Given the description of an element on the screen output the (x, y) to click on. 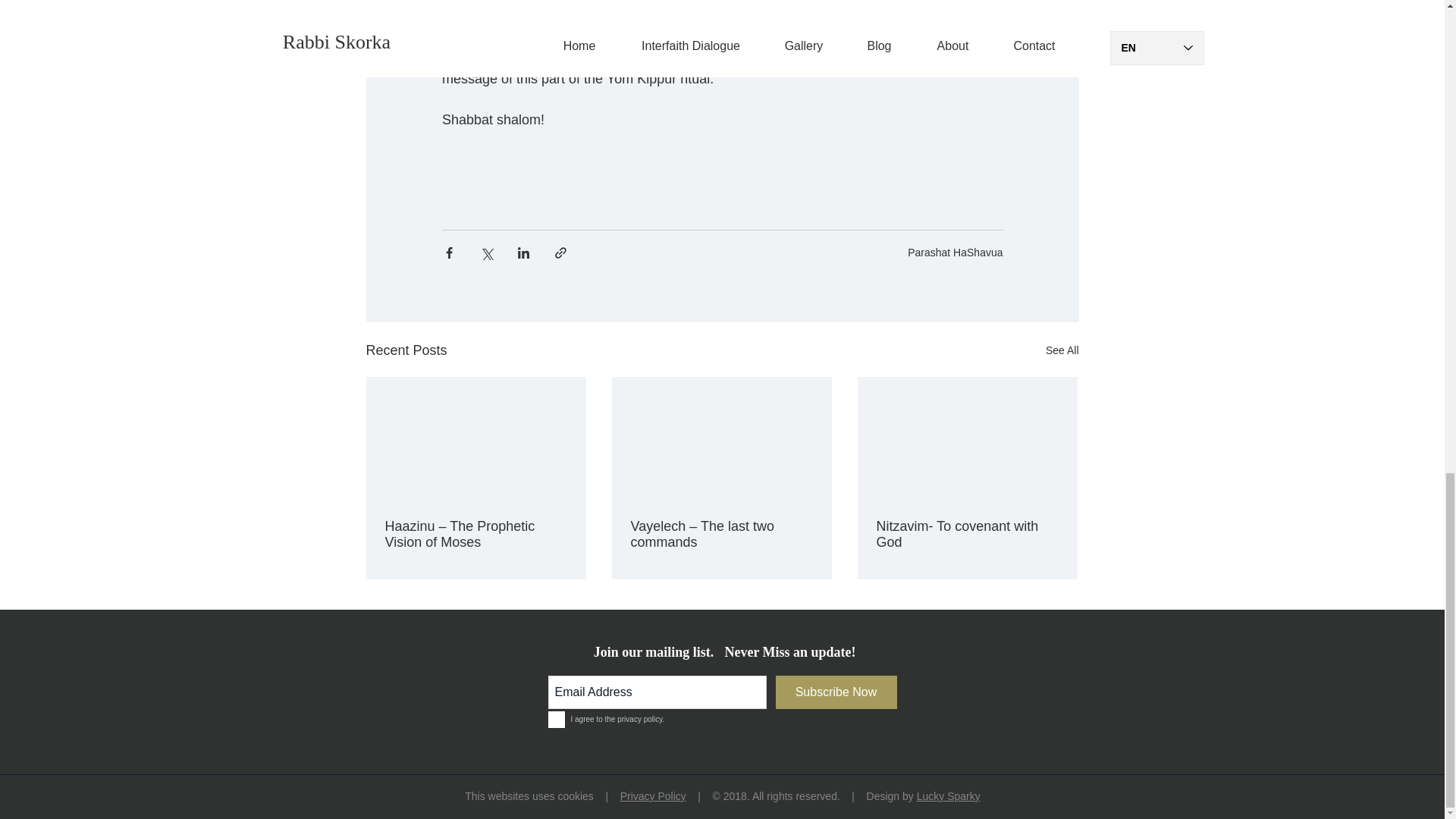
See All (1061, 350)
Subscribe Now (835, 692)
Parashat HaShavua (955, 252)
Privacy Policy (652, 796)
Lucky Sparky (948, 796)
Nitzavim- To covenant with God (967, 534)
